Given the description of an element on the screen output the (x, y) to click on. 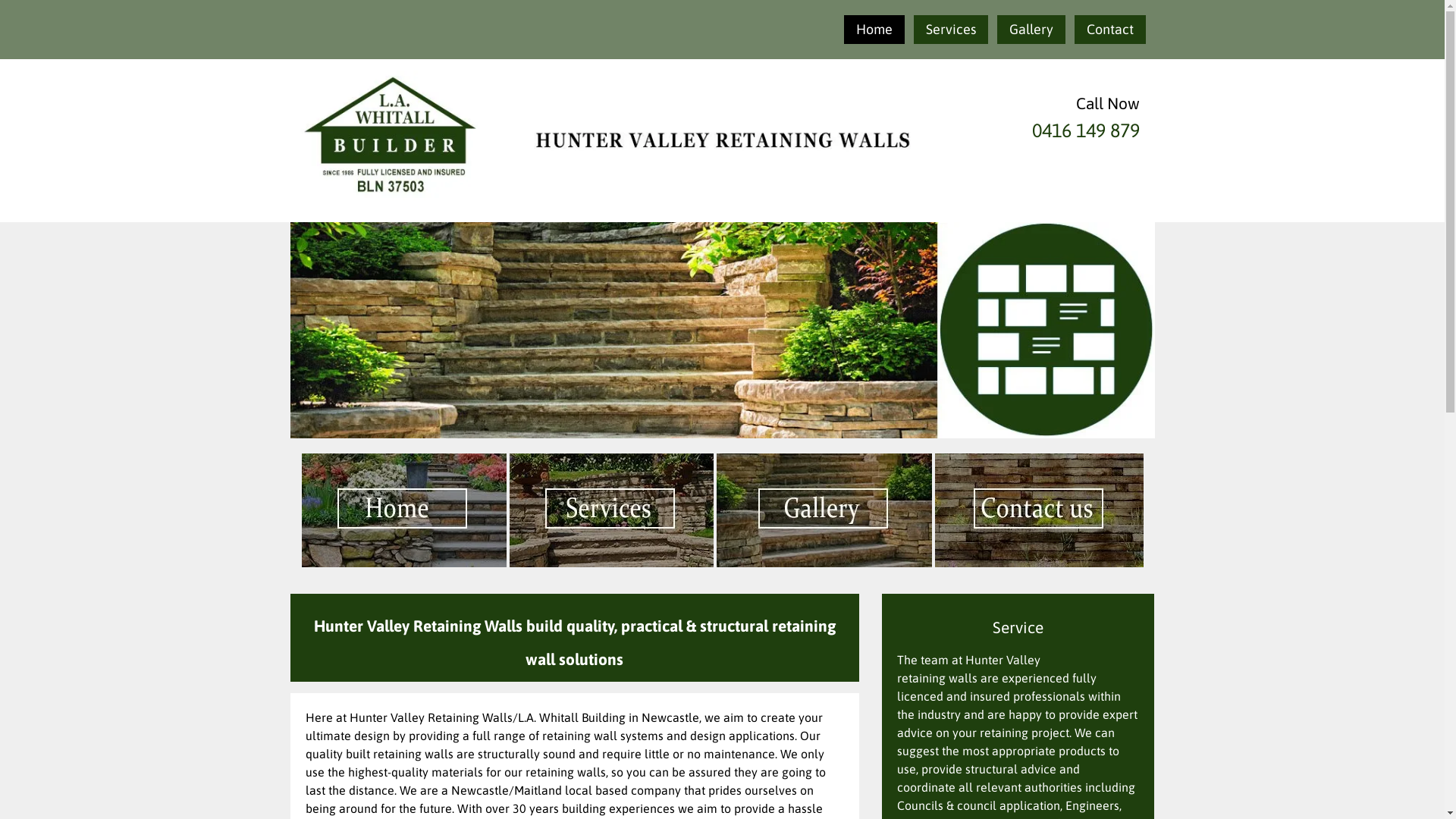
l a whitall steps Element type: hover (721, 330)
Home Element type: text (873, 29)
l a whitall builder contact Element type: hover (1038, 510)
 l a whitall hunter valley retaining walls logo Element type: hover (721, 140)
l a whitall builder services Element type: hover (611, 510)
Contact Element type: text (1109, 29)
l a whitall builder logo Element type: hover (389, 136)
l a whitall builder gallery Element type: hover (823, 510)
l a whitall builder home Element type: hover (403, 510)
Services Element type: text (950, 29)
Gallery Element type: text (1030, 29)
0416 149 879 Element type: text (1085, 129)
